Given the description of an element on the screen output the (x, y) to click on. 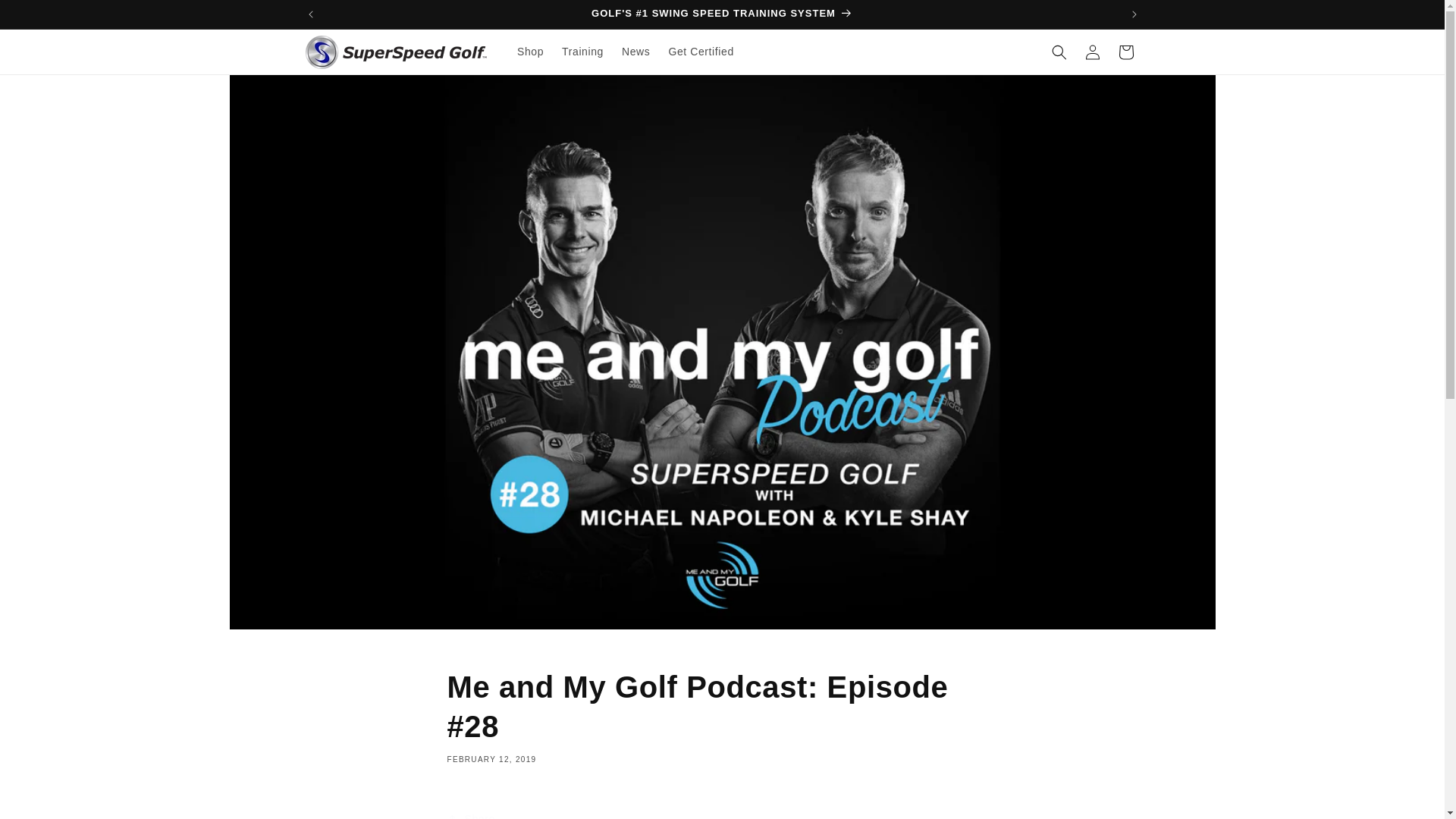
Share (721, 810)
Cart (1124, 51)
Skip to content (45, 17)
Get Certified (700, 51)
Training (582, 51)
Shop (530, 51)
News (635, 51)
Log in (1091, 51)
